Given the description of an element on the screen output the (x, y) to click on. 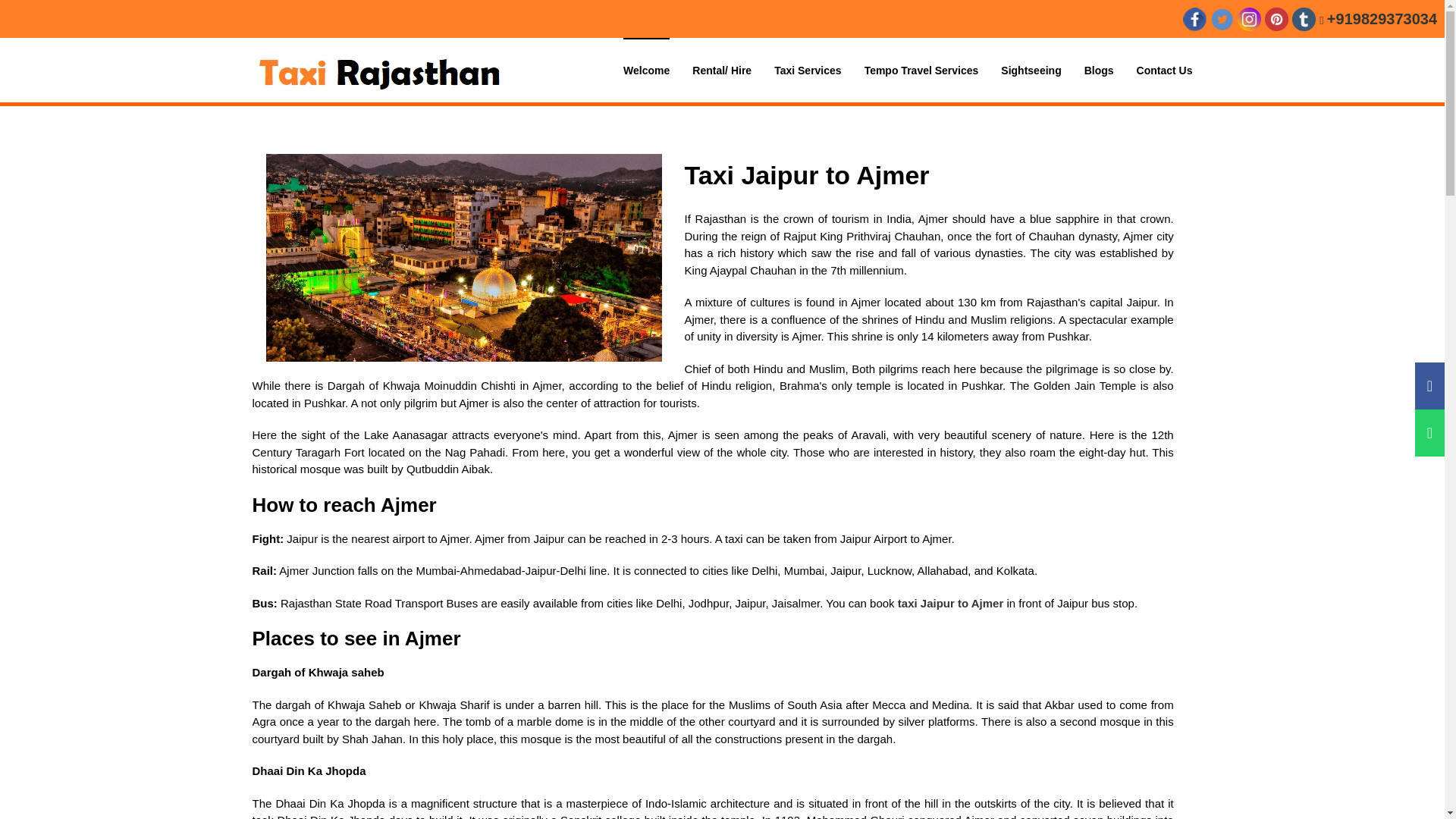
Welcome (646, 69)
Taxi Services (807, 69)
